Given the description of an element on the screen output the (x, y) to click on. 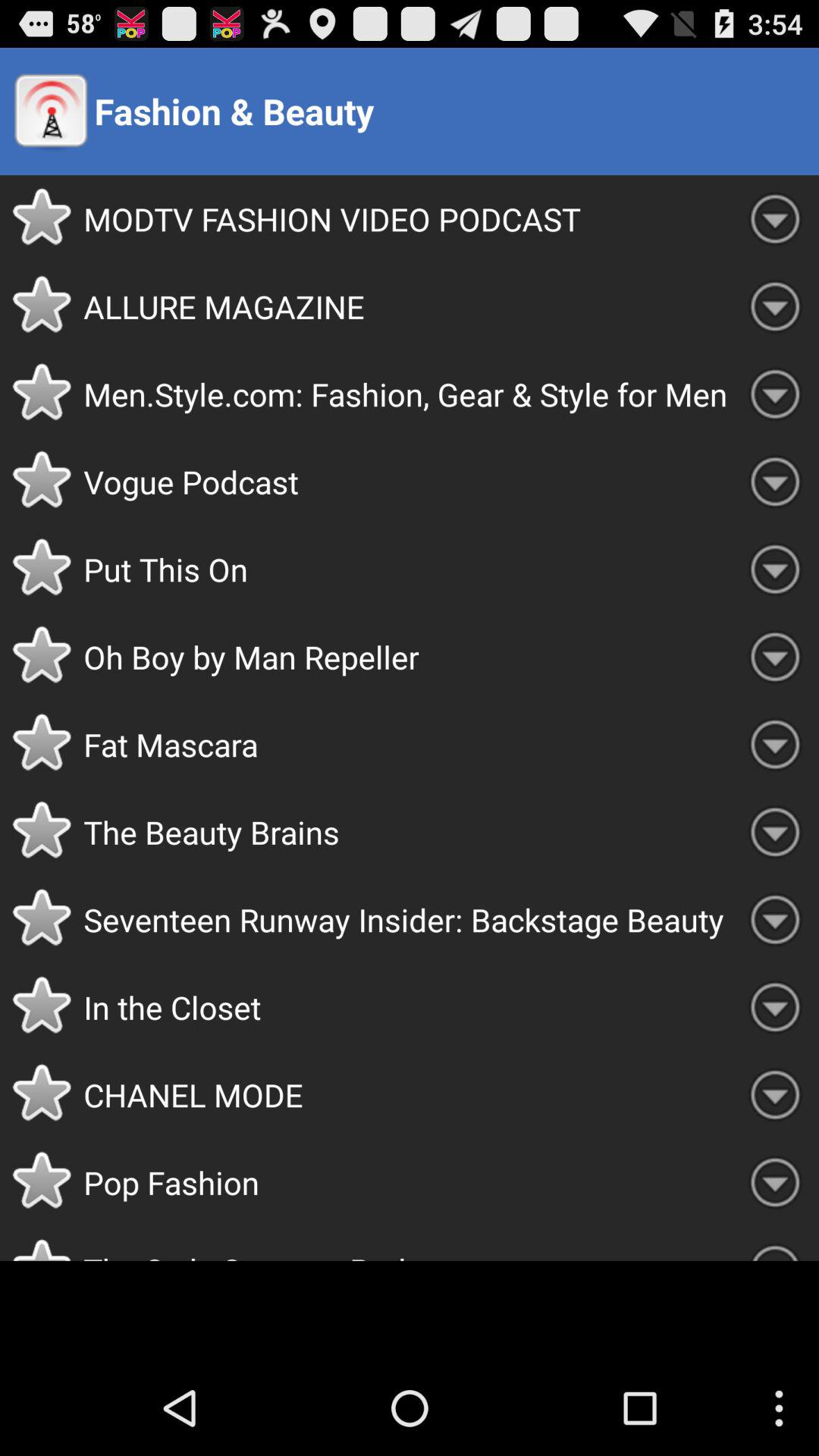
jump to the oh boy by icon (407, 656)
